Given the description of an element on the screen output the (x, y) to click on. 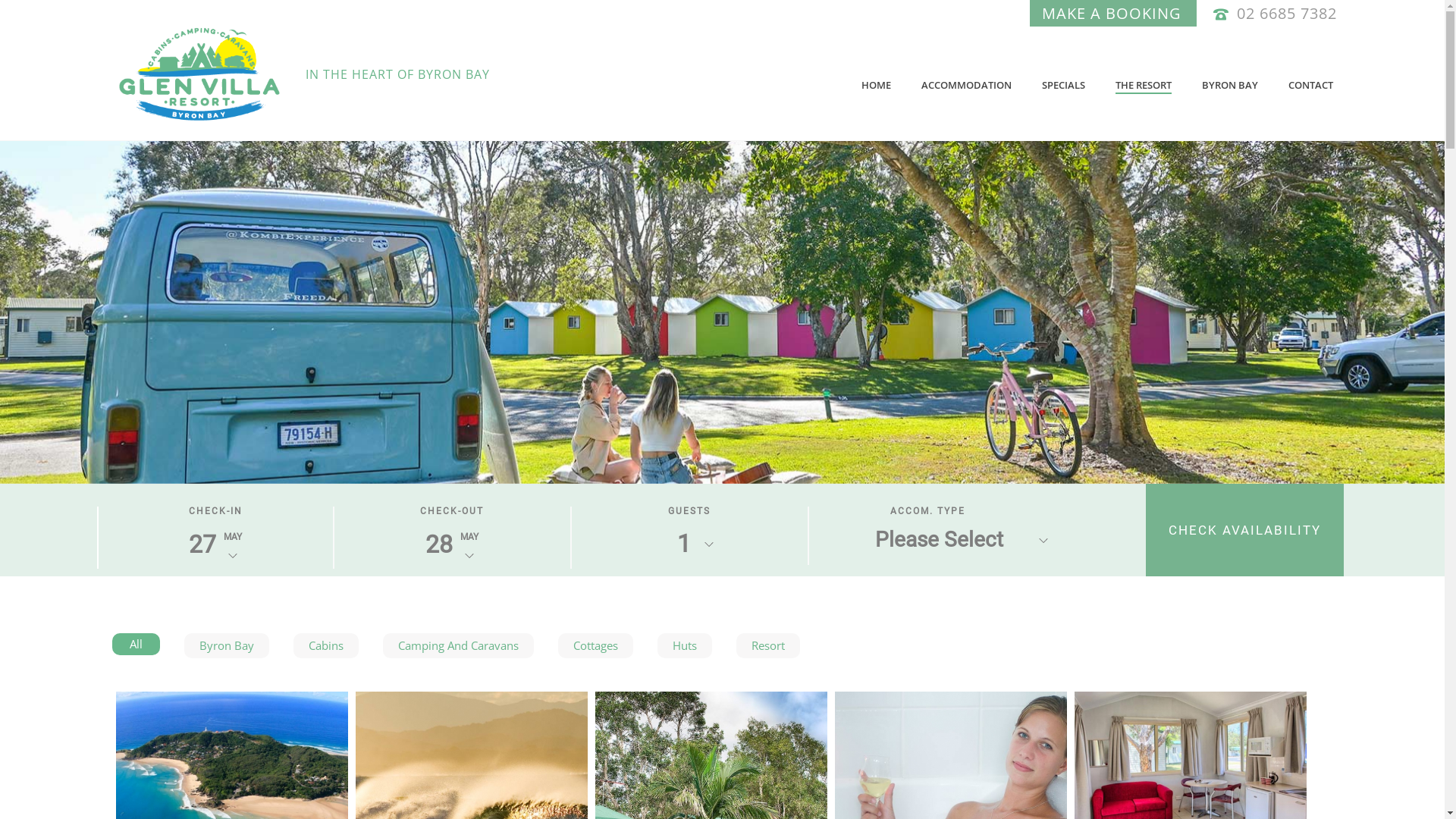
Resort Element type: text (767, 645)
SPECIALS Element type: text (1063, 84)
Cottages Element type: text (595, 645)
HOME Element type: text (876, 84)
ACCOMMODATION Element type: text (965, 84)
THE RESORT Element type: text (1142, 84)
Camping And Caravans Element type: text (457, 645)
Cabins Element type: text (324, 645)
02 6685 7382 Element type: text (1286, 13)
MAKE A BOOKING Element type: text (1111, 13)
Huts Element type: text (683, 645)
CHECK AVAILABILITY Element type: text (1244, 529)
Byron Bay Camping, Caravan, Cabins Holiday Park Element type: hover (199, 74)
All Element type: text (136, 644)
Glen Villa Resort Element type: hover (347, 74)
BYRON BAY Element type: text (1229, 84)
Byron Bay Element type: text (225, 645)
CONTACT Element type: text (1309, 84)
